Given the description of an element on the screen output the (x, y) to click on. 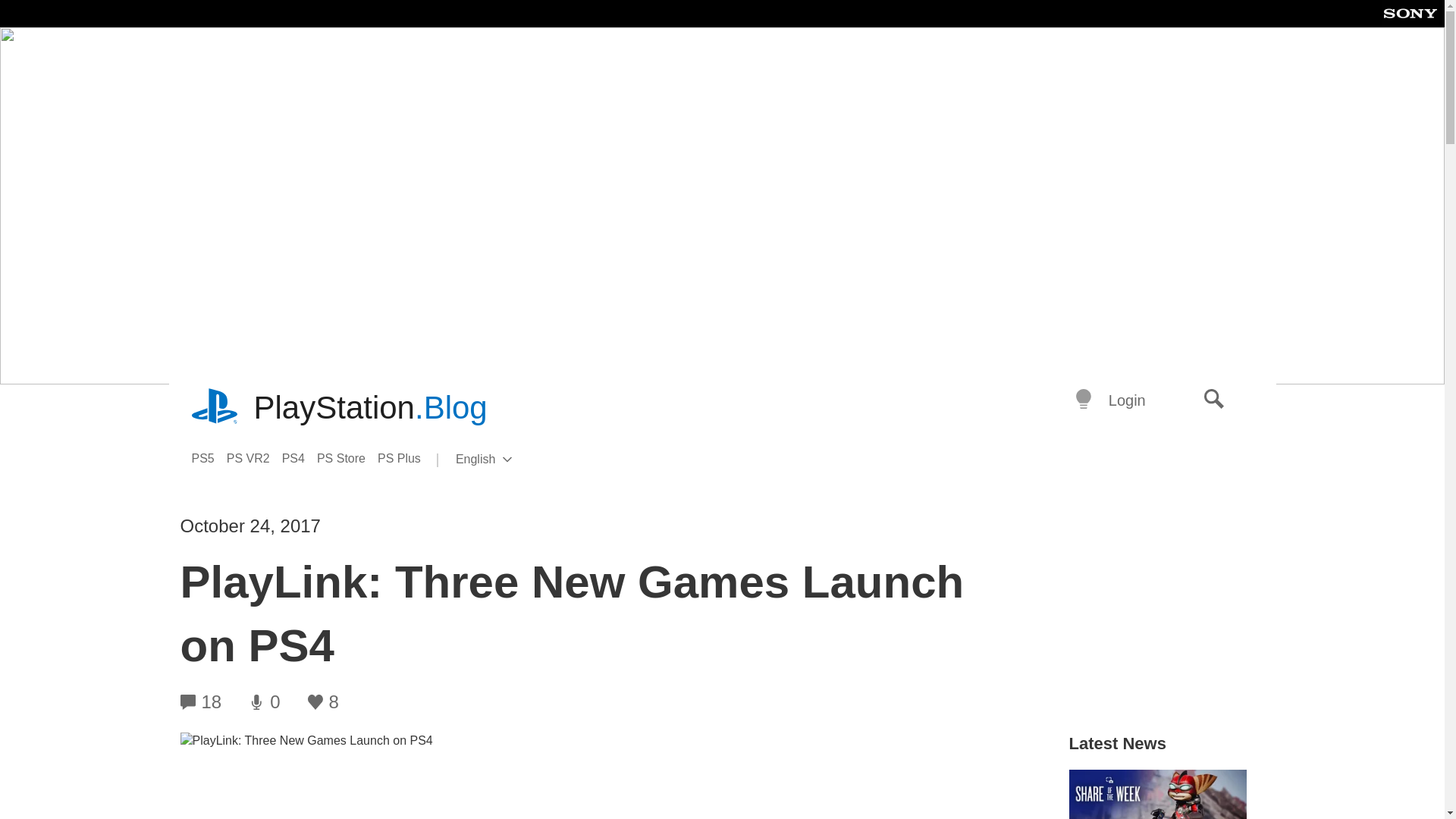
playstation.com (215, 408)
PS Store (347, 458)
Search (508, 459)
PS Plus (1214, 400)
PS4 (404, 458)
Skip to content (299, 458)
PlayStation.Blog (207, 458)
Login (369, 407)
